Given the description of an element on the screen output the (x, y) to click on. 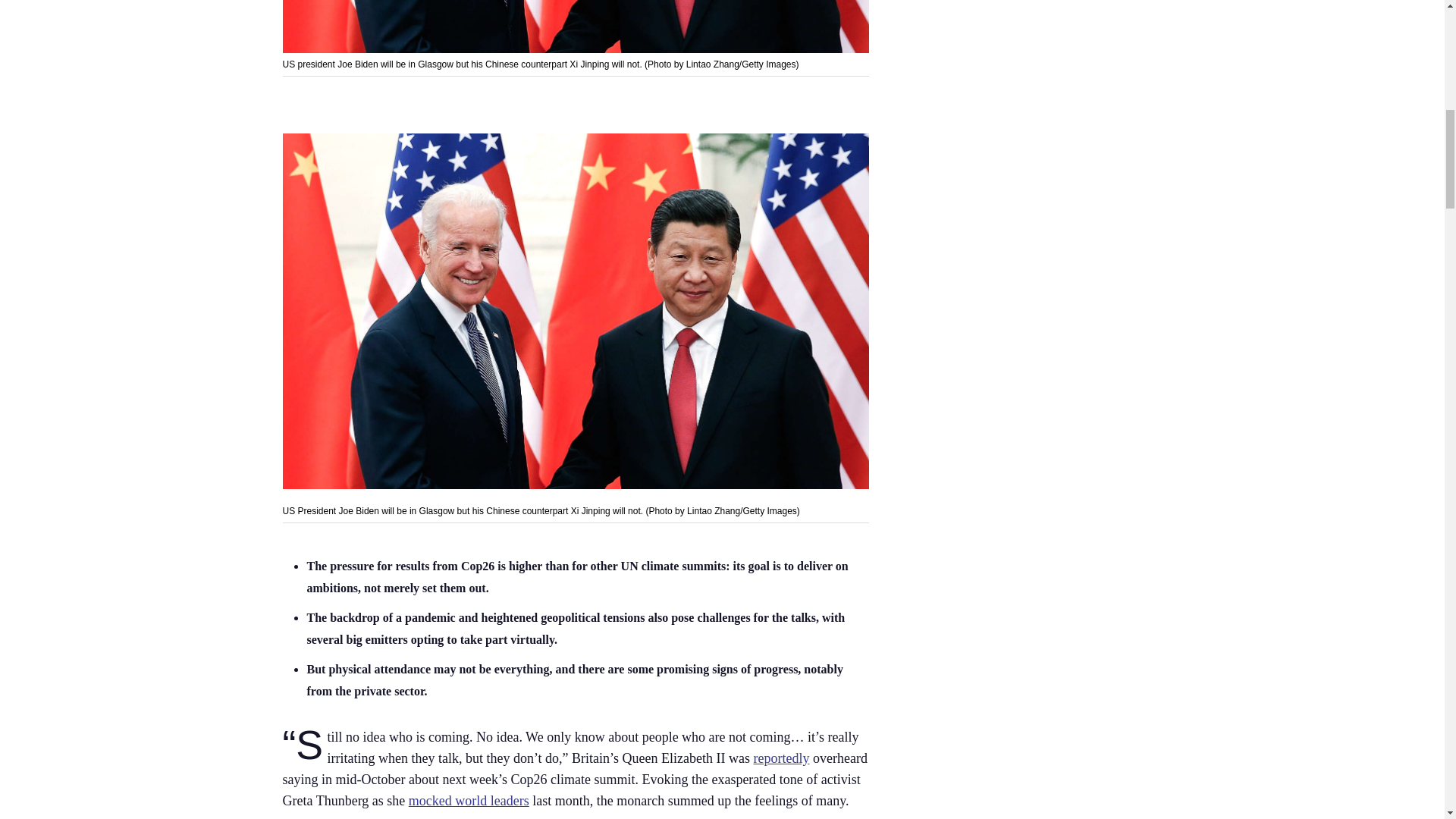
reportedly (781, 758)
mocked world leaders (469, 800)
